Given the description of an element on the screen output the (x, y) to click on. 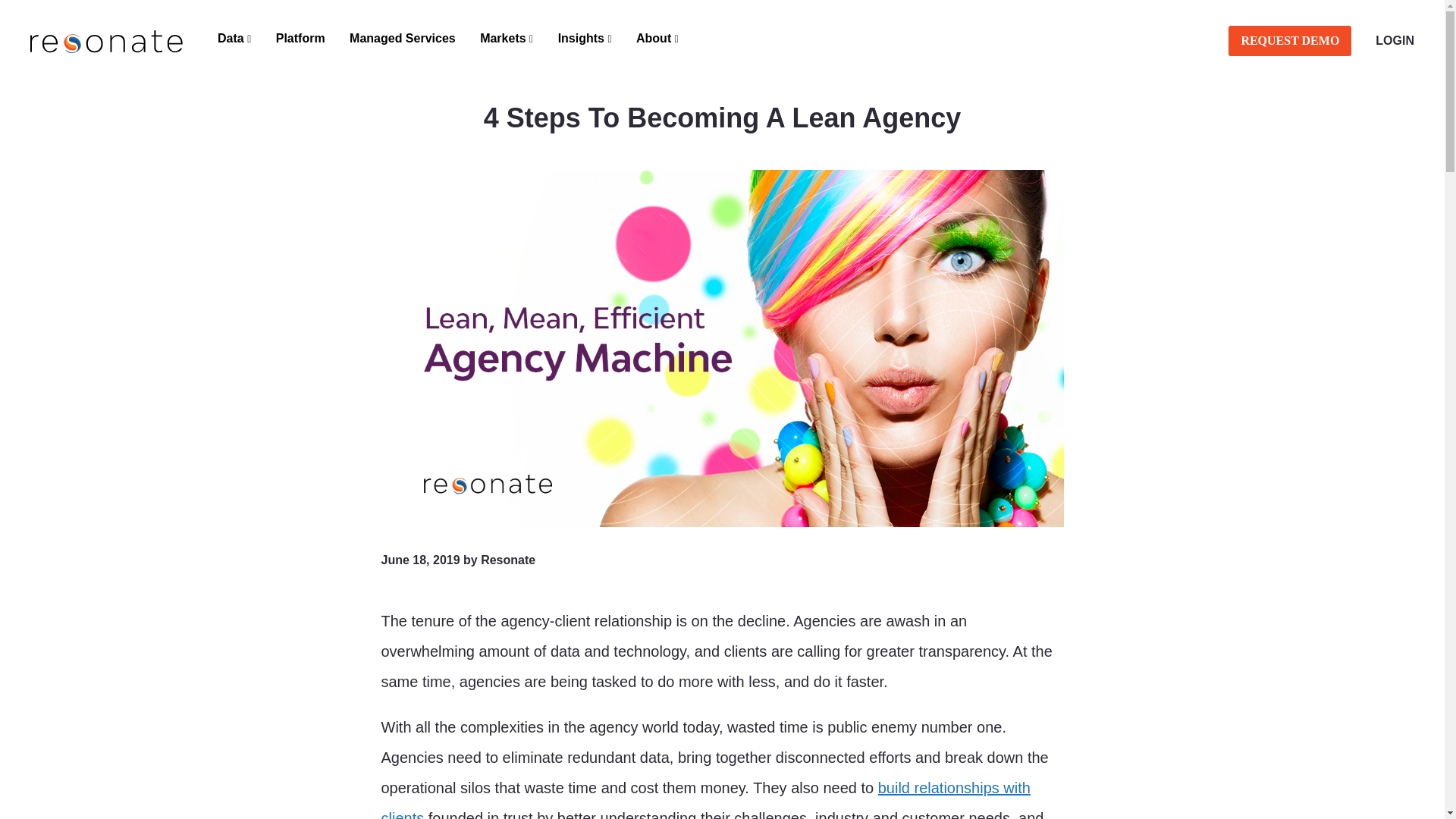
About (657, 38)
Data (234, 38)
Platform (300, 38)
Managed Services (402, 38)
Markets (505, 38)
Insights (585, 38)
